Given the description of an element on the screen output the (x, y) to click on. 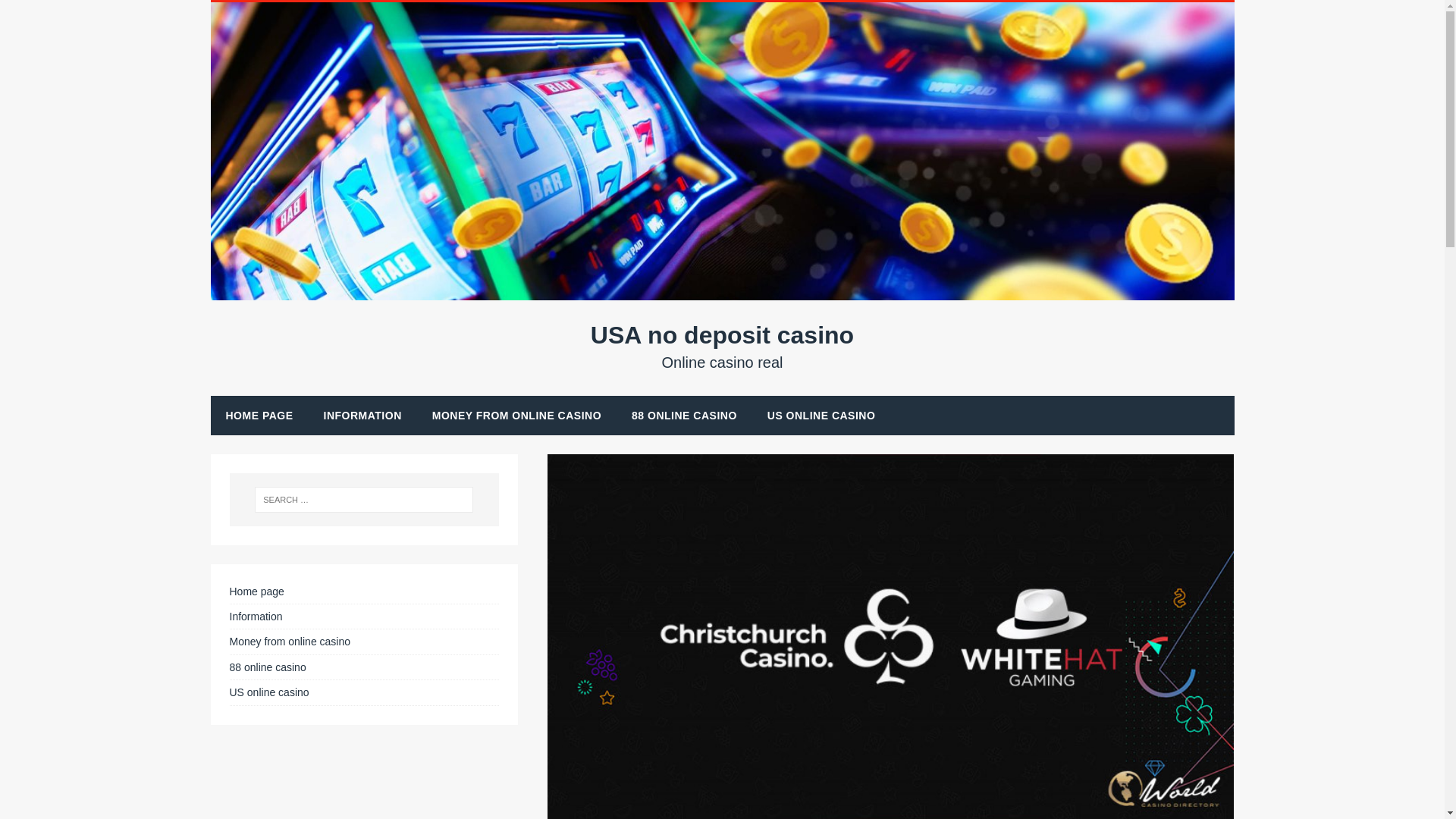
US ONLINE CASINO (821, 414)
USA no deposit casino (722, 291)
INFORMATION (722, 346)
MONEY FROM ONLINE CASINO (362, 414)
USA no deposit casino (515, 414)
88 ONLINE CASINO (722, 346)
6b95f2af44b83e827ad92bd9b65600a5 (683, 414)
